Given the description of an element on the screen output the (x, y) to click on. 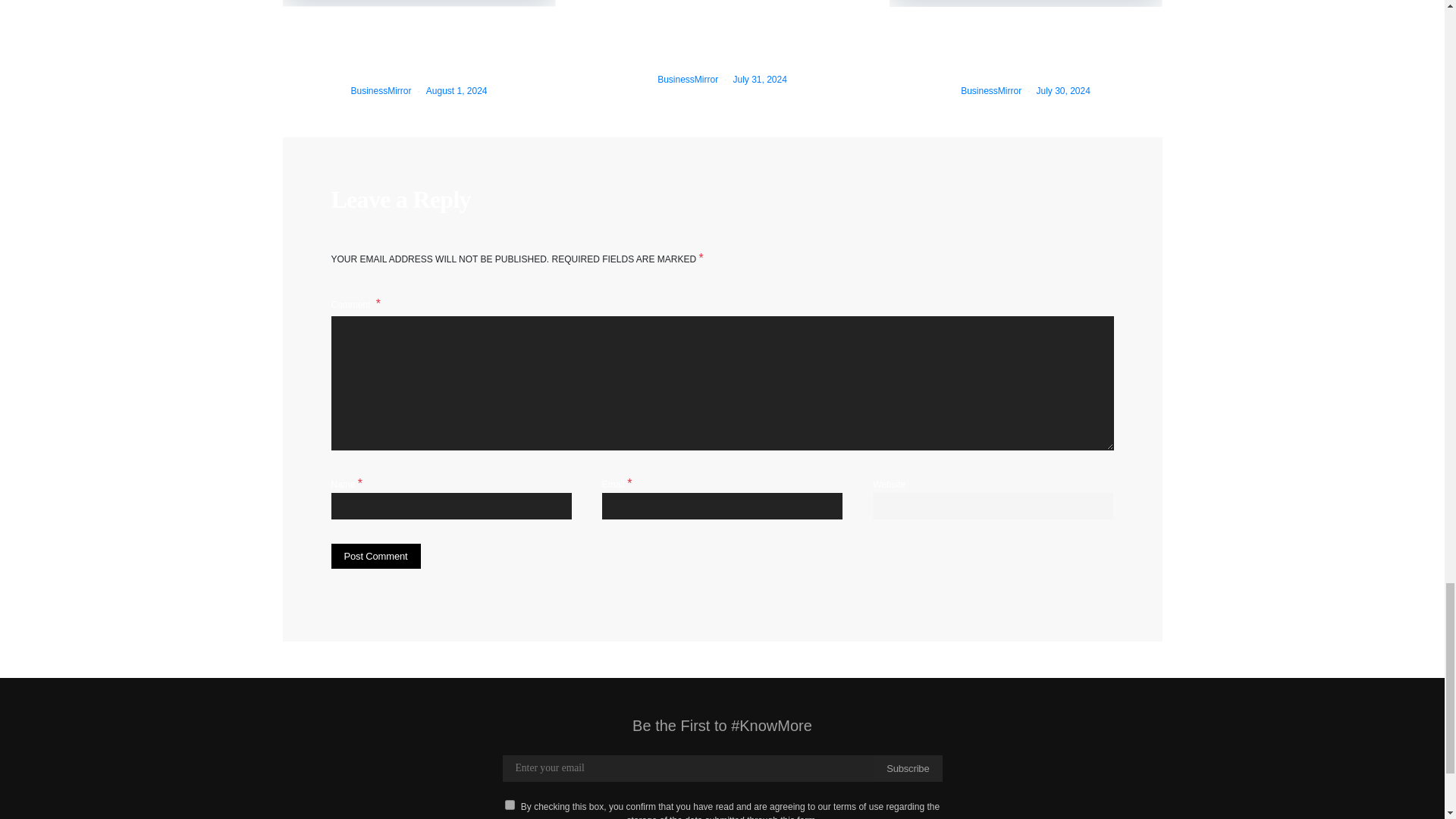
View all posts by BusinessMirror (687, 79)
View all posts by BusinessMirror (991, 90)
Post Comment (375, 556)
View all posts by BusinessMirror (380, 90)
on (510, 804)
